Given the description of an element on the screen output the (x, y) to click on. 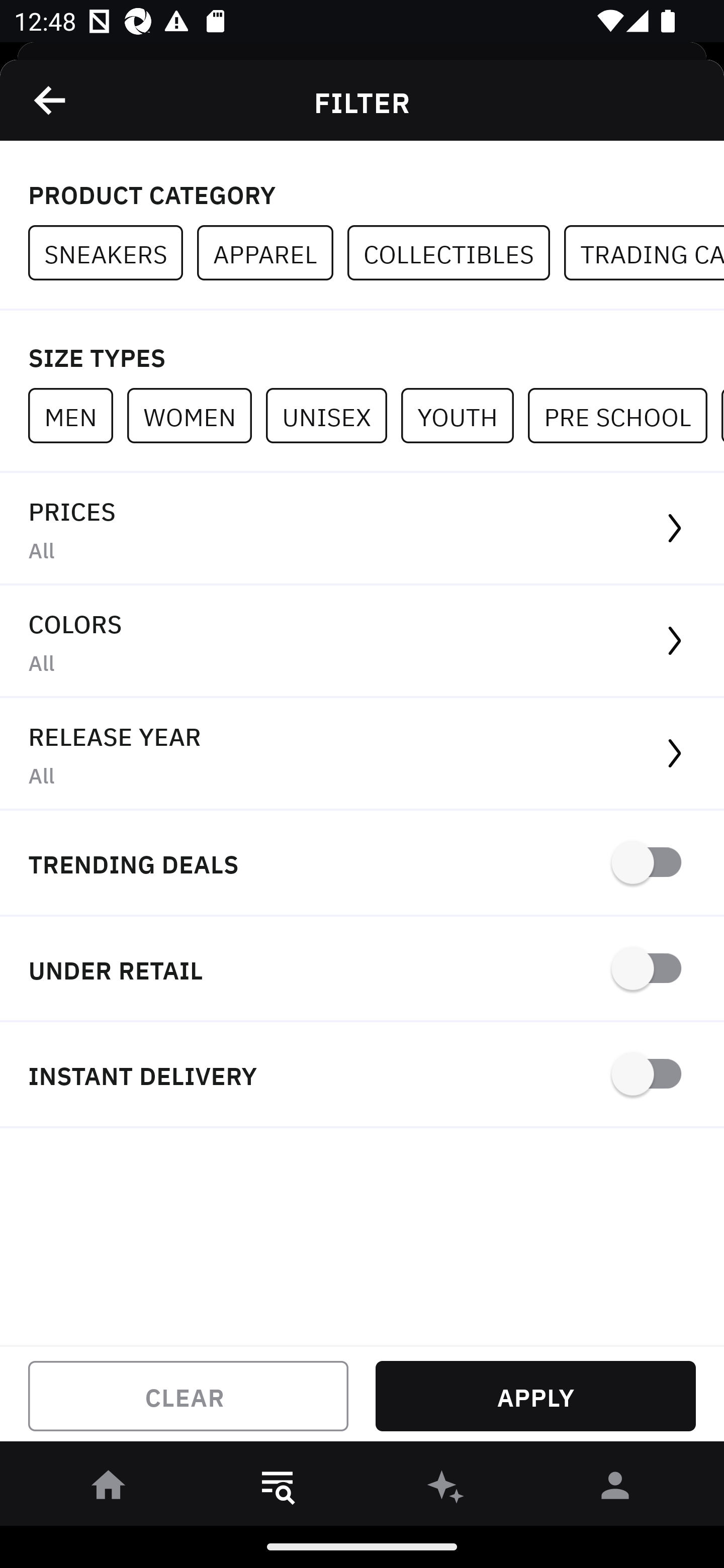
 (50, 100)
SNEAKERS (112, 252)
APPAREL (271, 252)
COLLECTIBLES (455, 252)
TRADING CARDS (643, 252)
MEN (77, 415)
WOMEN (196, 415)
UNISEX (333, 415)
YOUTH (464, 415)
PRE SCHOOL (624, 415)
PRICES All (362, 528)
COLORS All (362, 640)
RELEASE YEAR All (362, 753)
TRENDING DEALS (362, 863)
UNDER RETAIL (362, 969)
INSTANT DELIVERY (362, 1075)
CLEAR  (188, 1396)
APPLY (535, 1396)
󰋜 (108, 1488)
󱎸 (277, 1488)
󰫢 (446, 1488)
󰀄 (615, 1488)
